Given the description of an element on the screen output the (x, y) to click on. 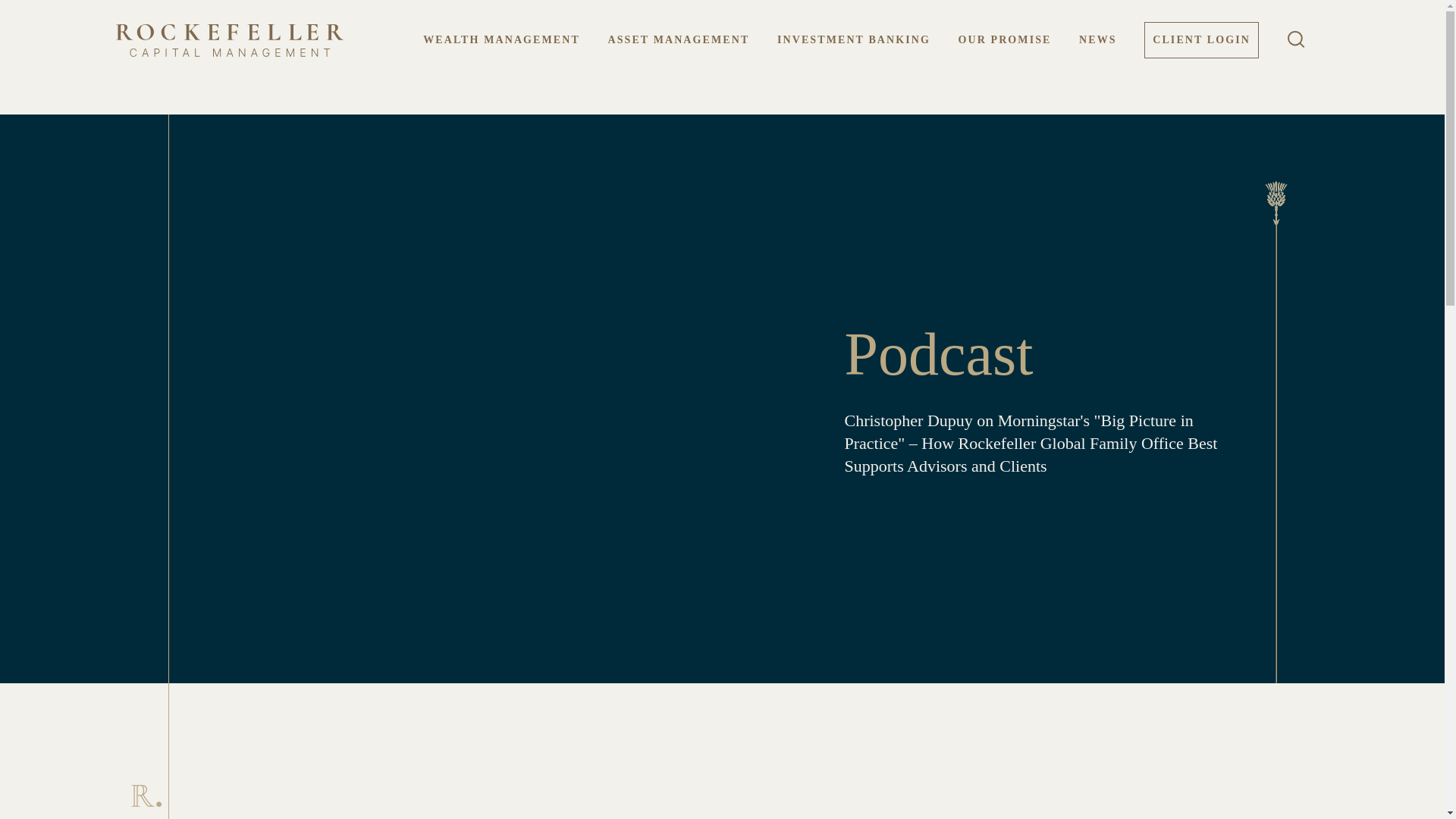
INVESTMENT BANKING (853, 39)
WEALTH MANAGEMENT (501, 39)
ASSET MANAGEMENT (678, 39)
